Given the description of an element on the screen output the (x, y) to click on. 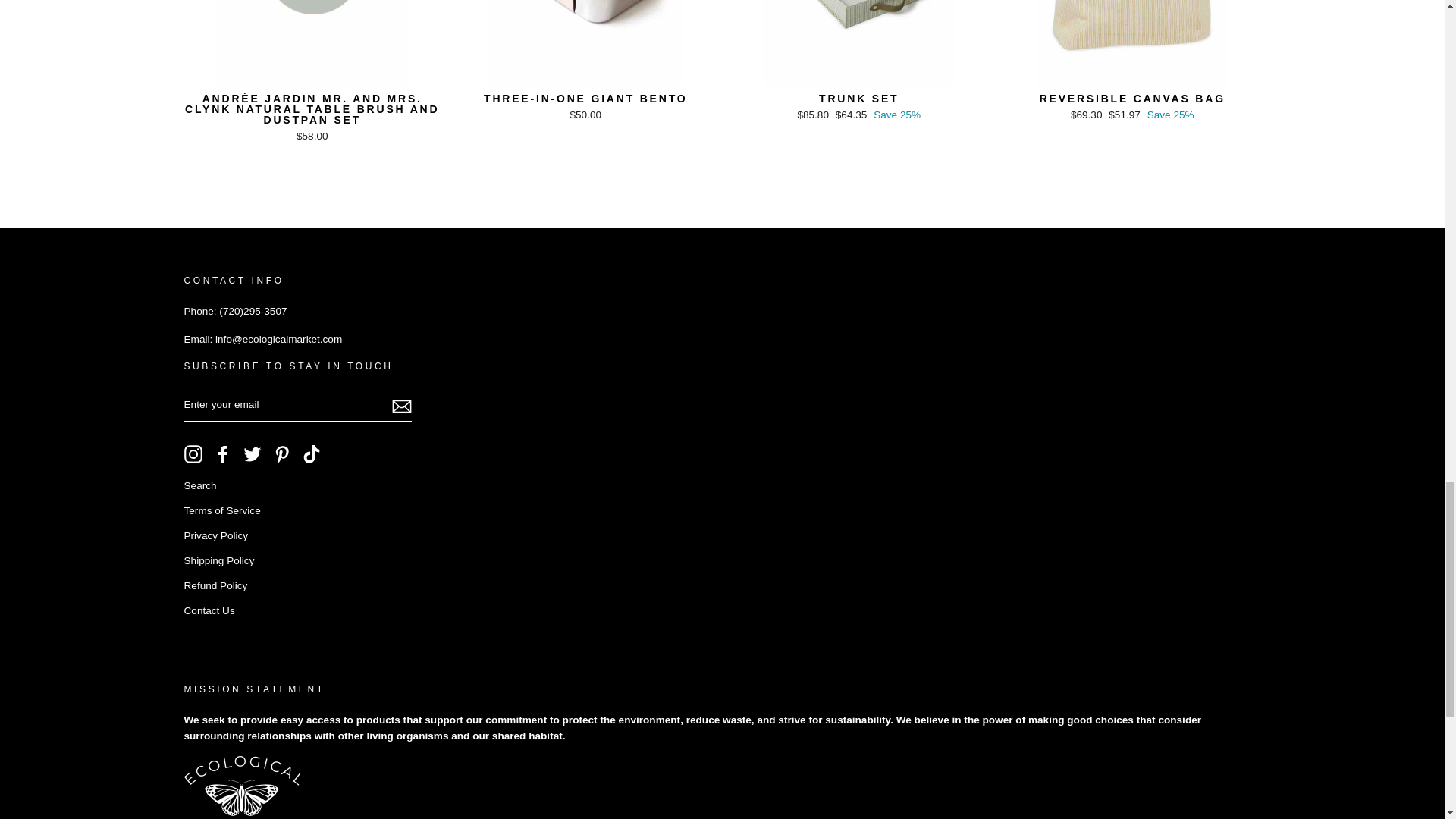
Ecological Market on Pinterest (282, 454)
Ecological Market on Facebook (222, 454)
Ecological Market on TikTok (310, 454)
Ecological Market on Instagram (192, 454)
Ecological Market on Twitter (251, 454)
